Given the description of an element on the screen output the (x, y) to click on. 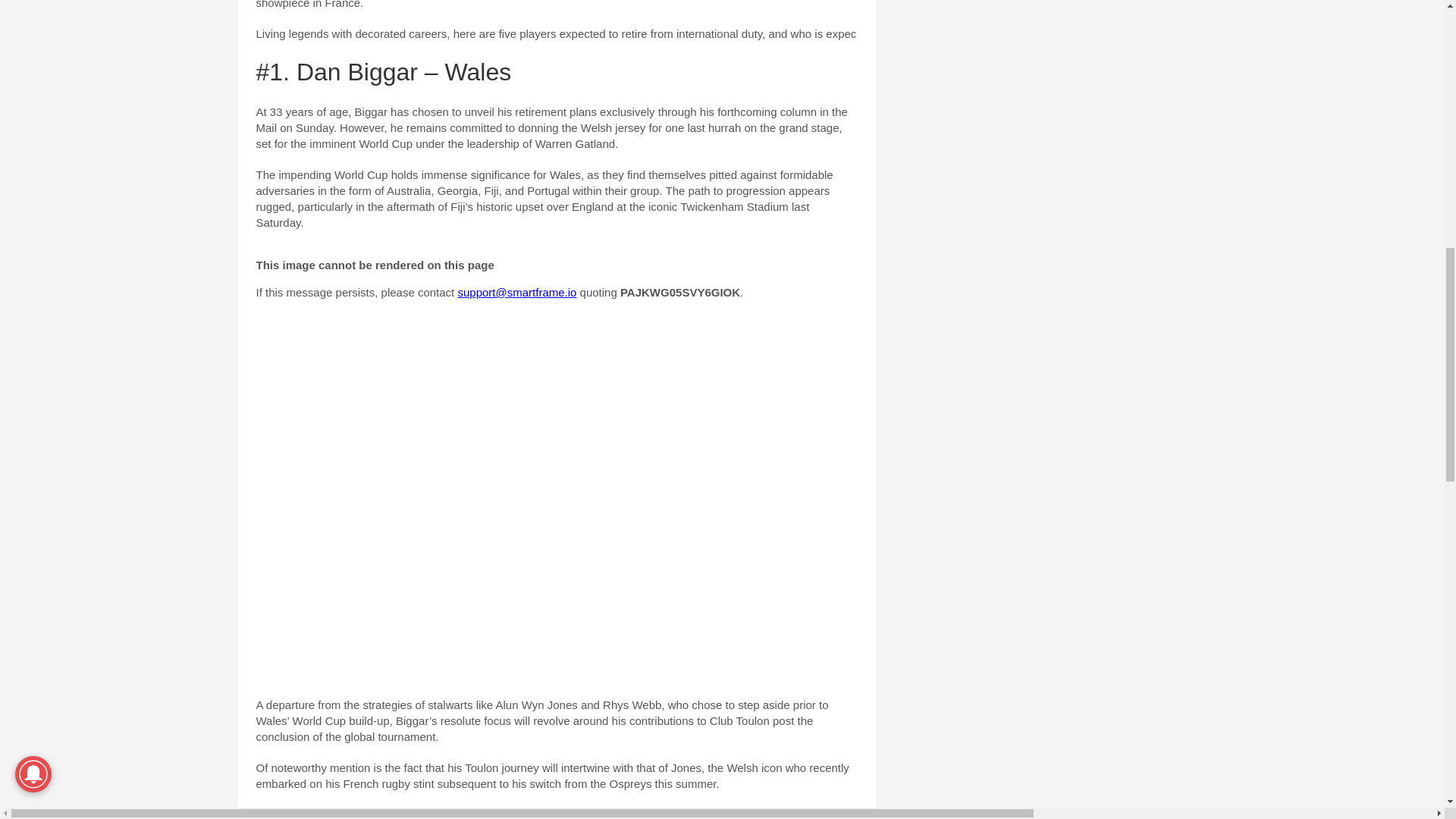
CONTINUES ON PAGE TWO (556, 813)
